Given the description of an element on the screen output the (x, y) to click on. 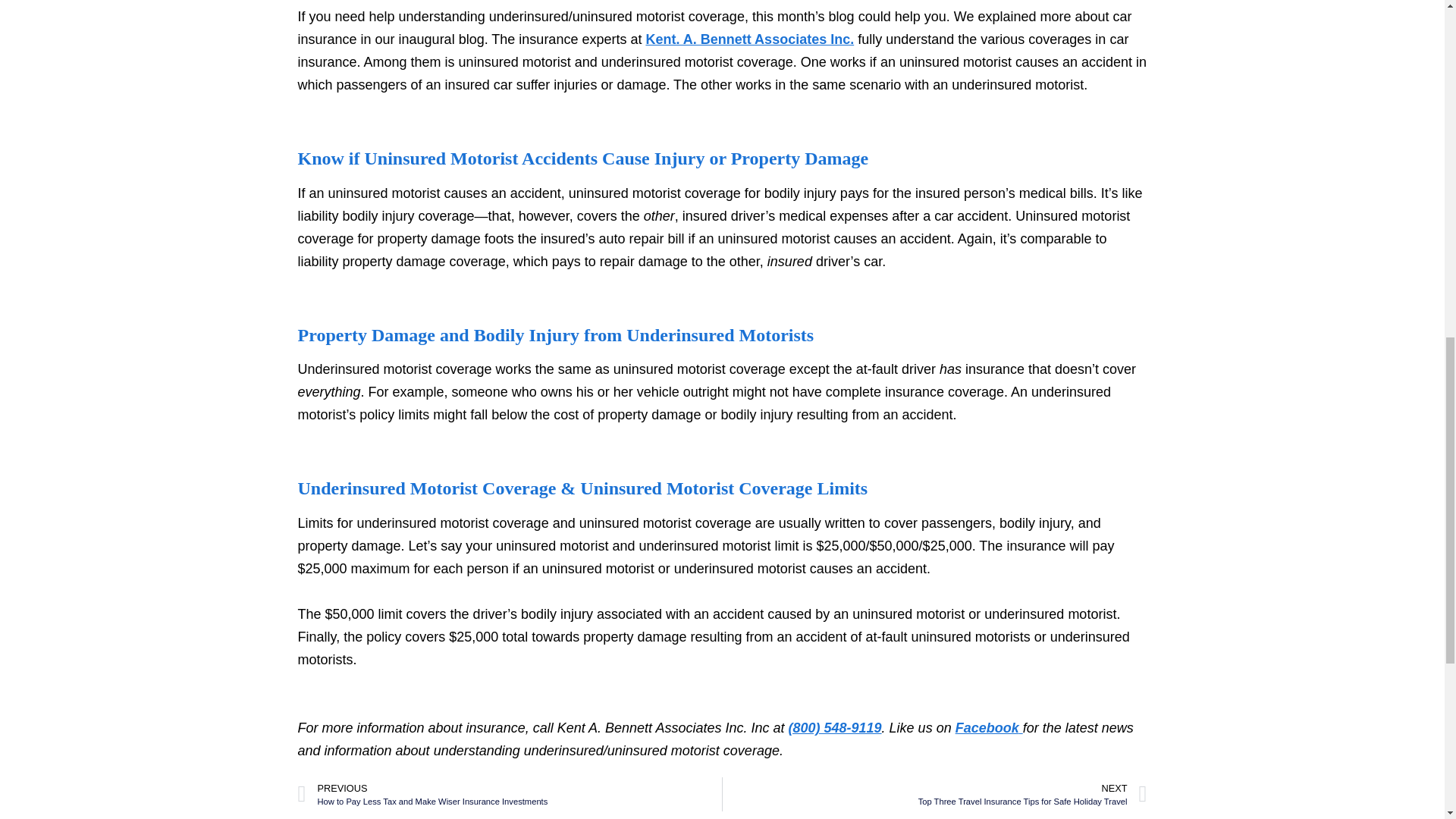
Facebook (934, 794)
Kent. A. Bennett Associates Inc. (989, 727)
